Given the description of an element on the screen output the (x, y) to click on. 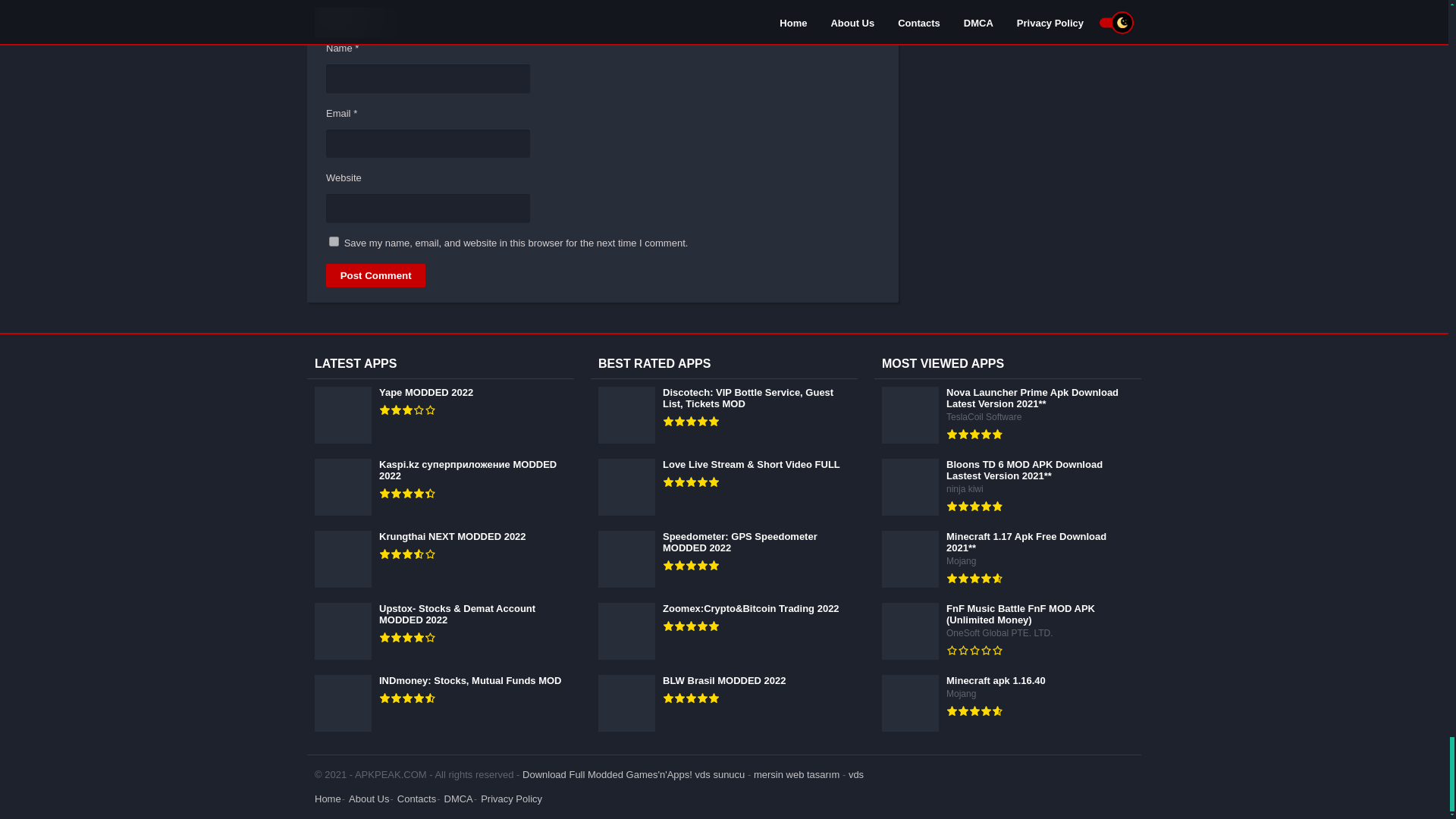
vds (855, 774)
Post Comment (375, 275)
yes (334, 241)
vds sunucu (720, 774)
